Given the description of an element on the screen output the (x, y) to click on. 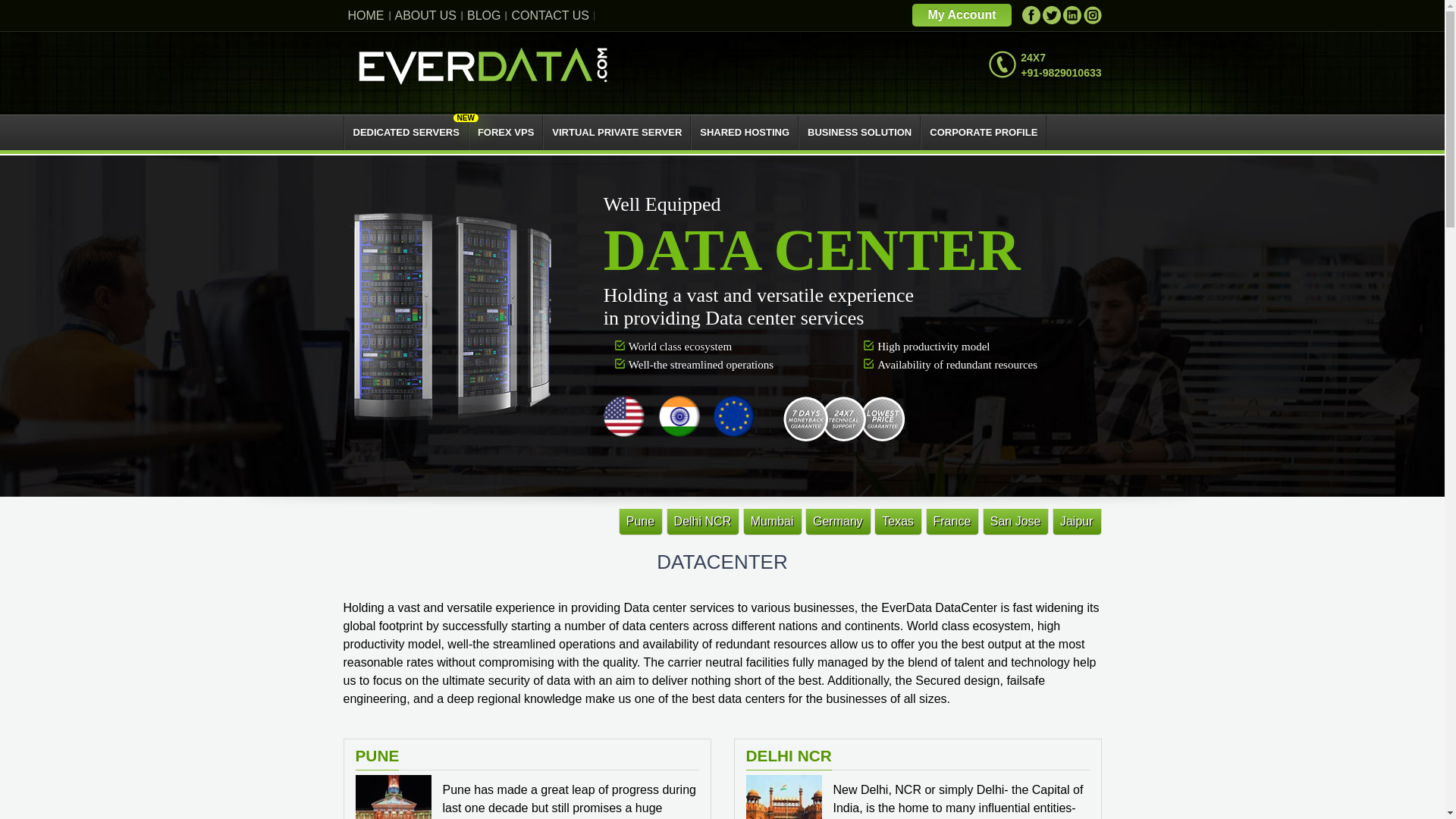
ABOUT US (426, 15)
CONTACT US (549, 15)
Home (482, 65)
My Account (961, 15)
BUSINESS SOLUTION (859, 132)
HOME (365, 15)
CORPORATE PROFILE (983, 132)
VIRTUAL PRIVATE SERVER (616, 132)
FOREX VPS (504, 132)
DEDICATED SERVERS (405, 132)
SHARED HOSTING (744, 132)
BLOG (483, 15)
